Given the description of an element on the screen output the (x, y) to click on. 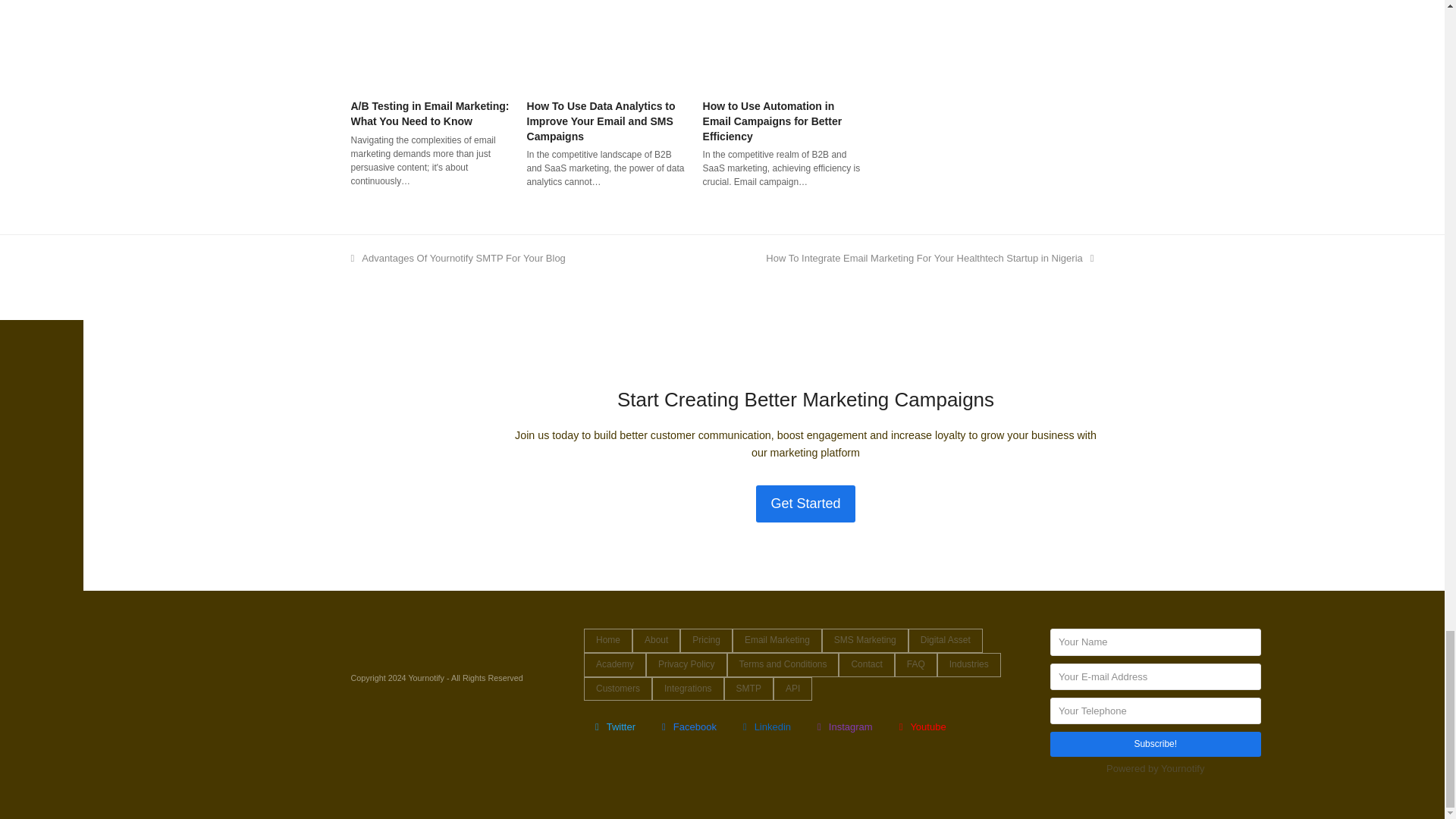
Subscribe! (1154, 744)
